Given the description of an element on the screen output the (x, y) to click on. 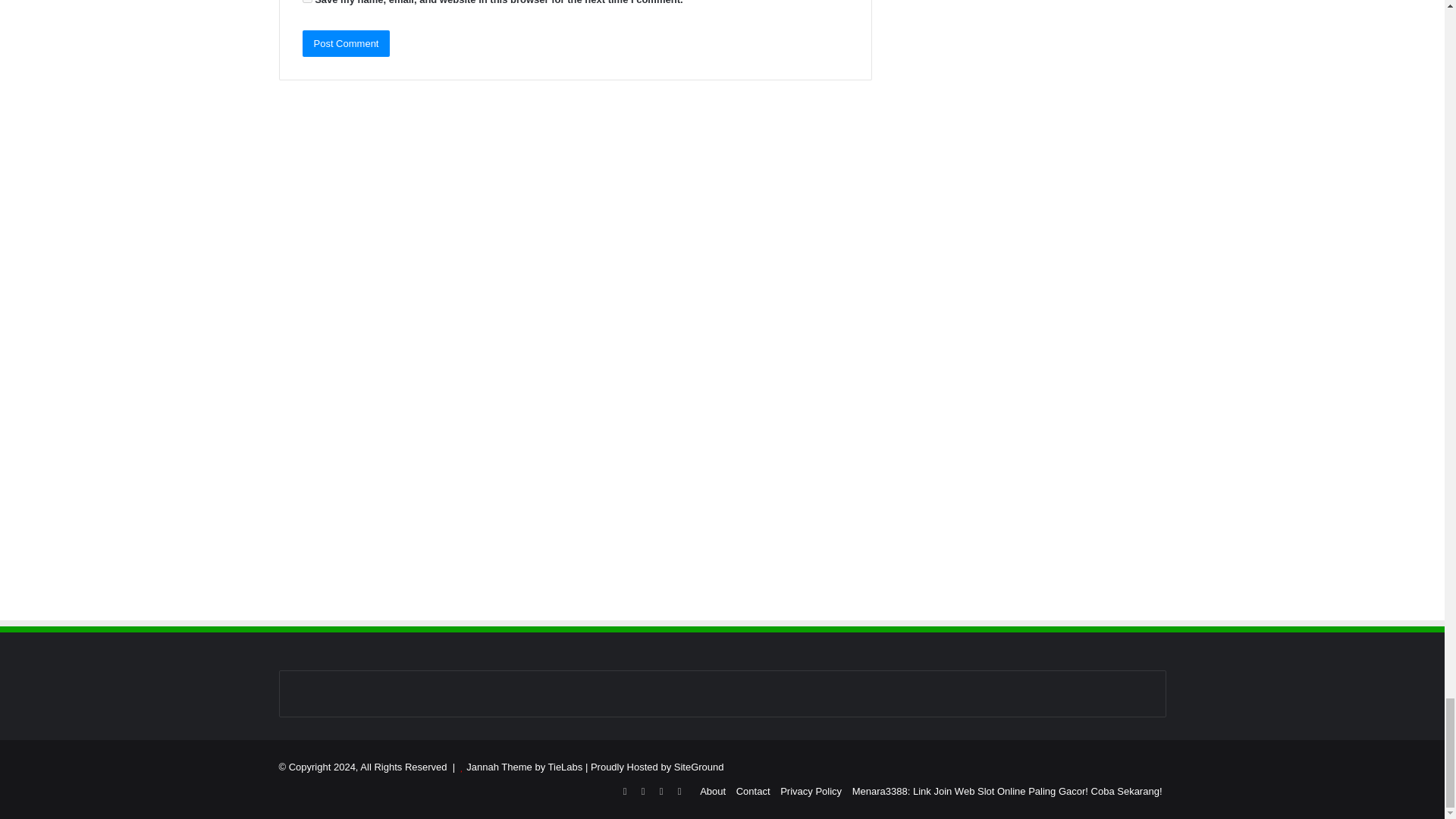
Post Comment (345, 43)
yes (306, 1)
